Given the description of an element on the screen output the (x, y) to click on. 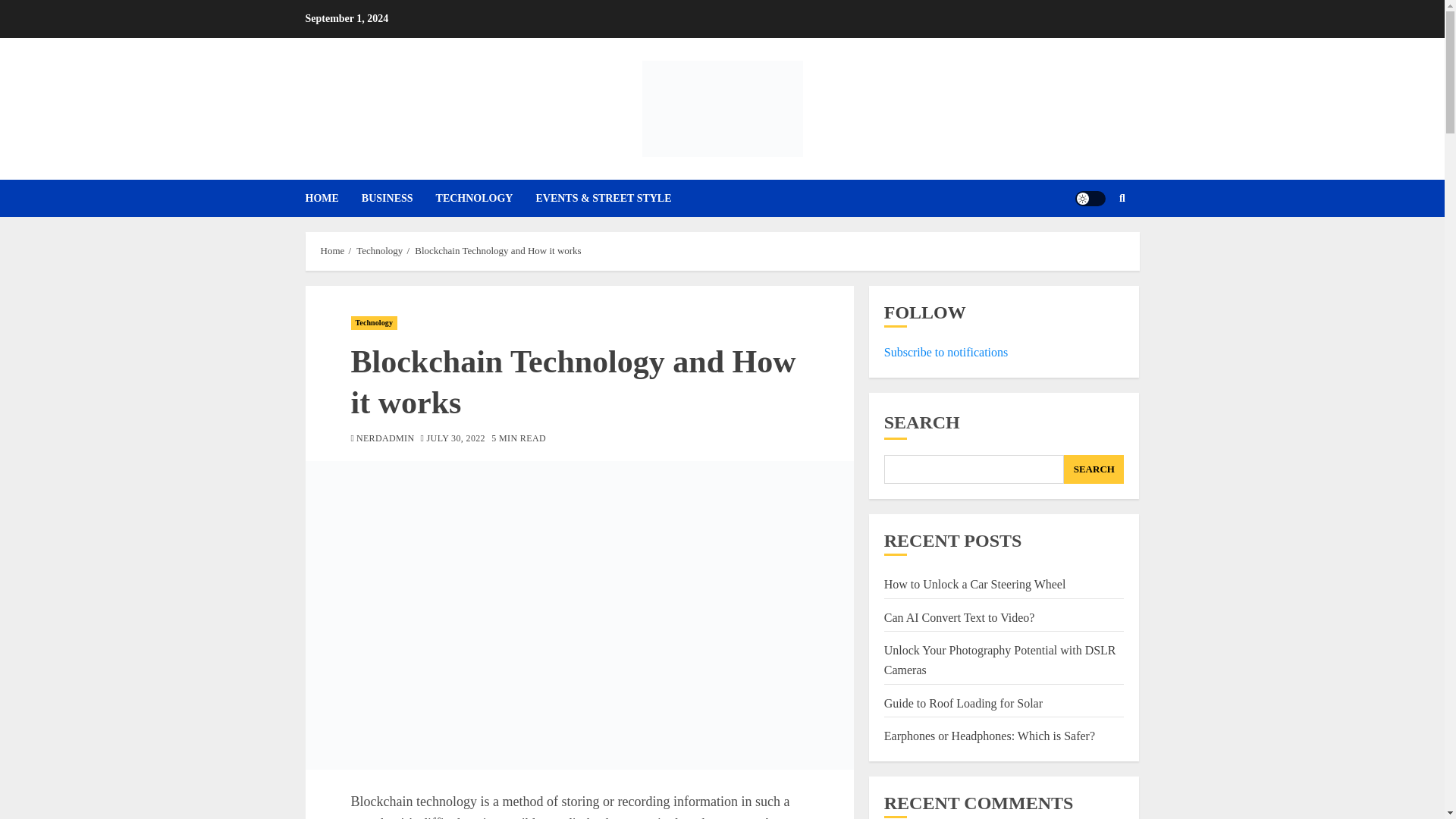
Unlock Your Photography Potential with DSLR Cameras (999, 660)
HOME (332, 198)
Guide to Roof Loading for Solar (962, 703)
NERDADMIN (385, 439)
Technology (373, 323)
Can AI Convert Text to Video? (959, 617)
Search (1092, 244)
Technology (379, 250)
TECHNOLOGY (485, 198)
JULY 30, 2022 (455, 439)
